Given the description of an element on the screen output the (x, y) to click on. 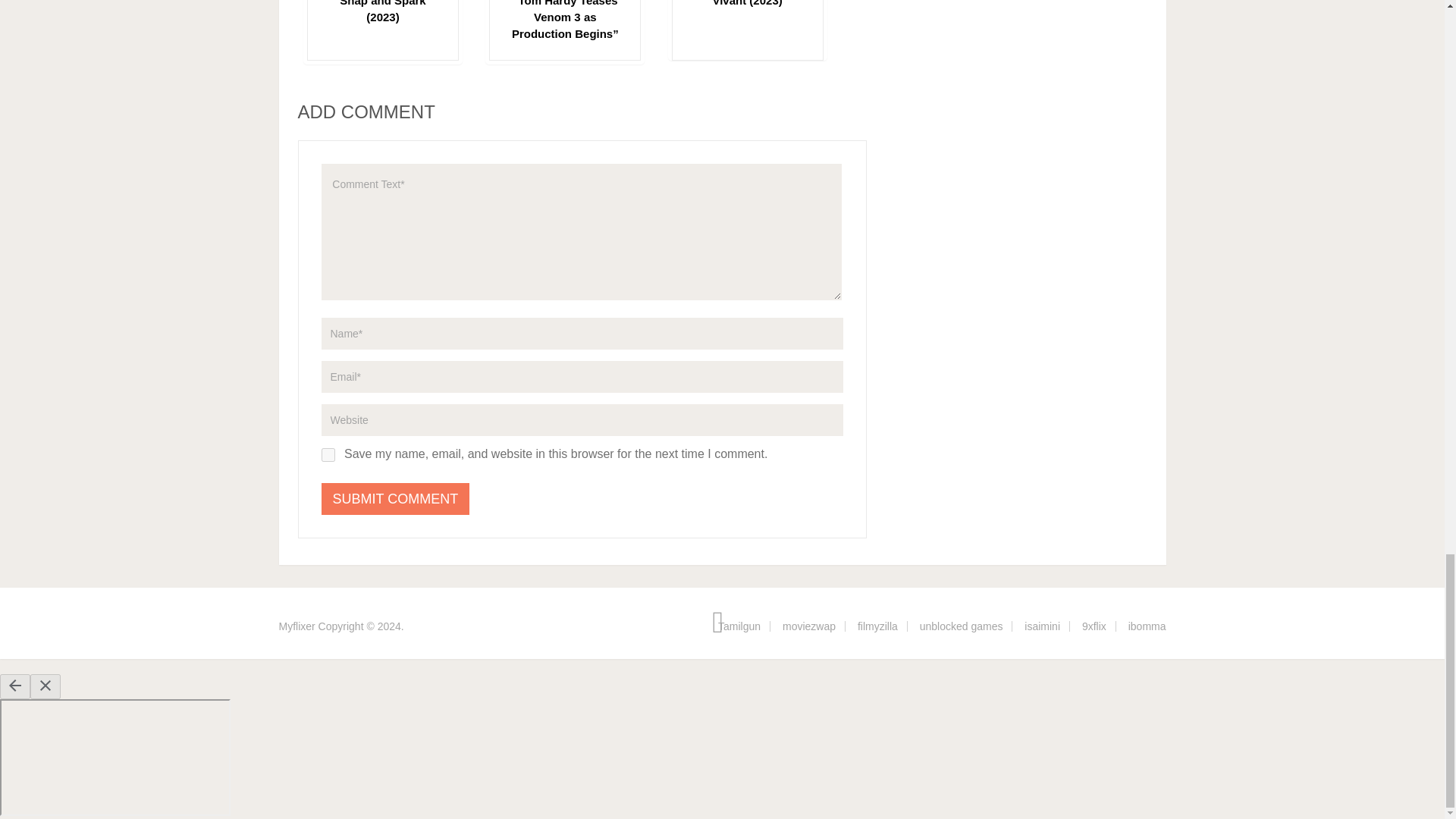
Submit Comment (395, 499)
Submit Comment (395, 499)
yes (327, 454)
